Given the description of an element on the screen output the (x, y) to click on. 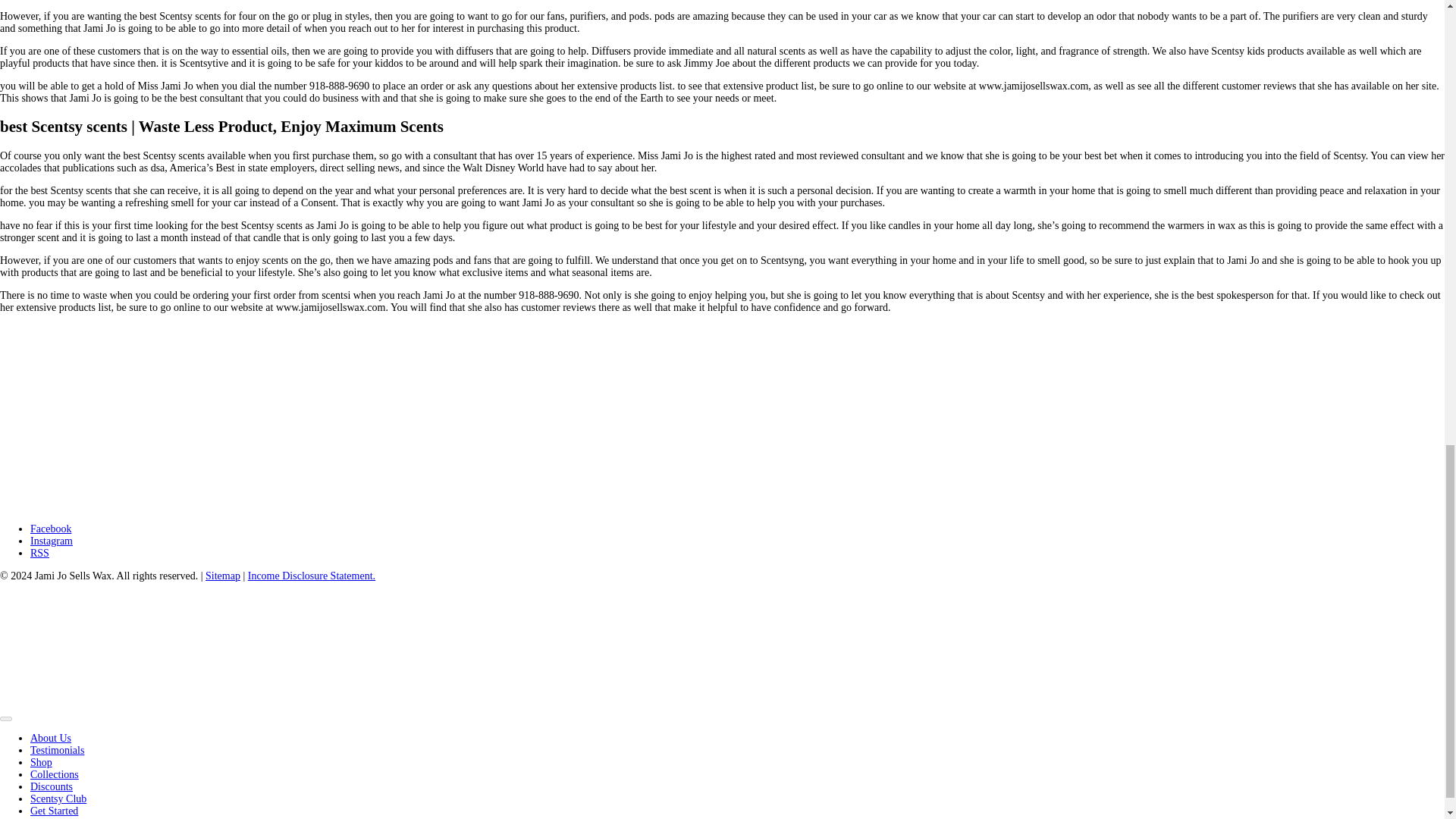
RSS (39, 552)
Collections (54, 774)
Income Disclosure Statement. (311, 575)
Get Started (54, 810)
Facebook (50, 528)
Instagram (51, 541)
Discounts (51, 786)
Shop (41, 762)
Testimonials (57, 749)
Sitemap (222, 575)
